Given the description of an element on the screen output the (x, y) to click on. 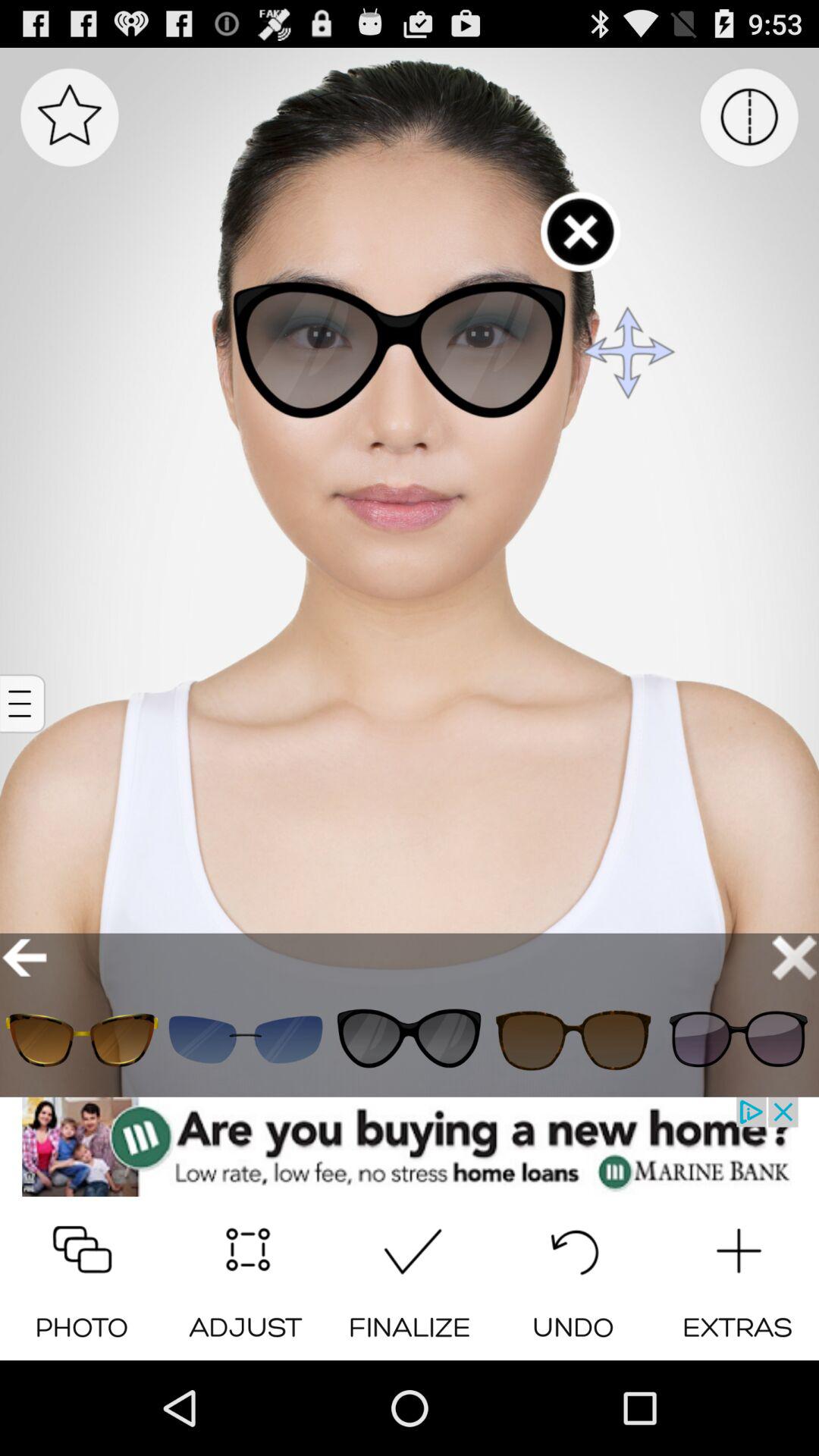
adventisment page (409, 1146)
